Given the description of an element on the screen output the (x, y) to click on. 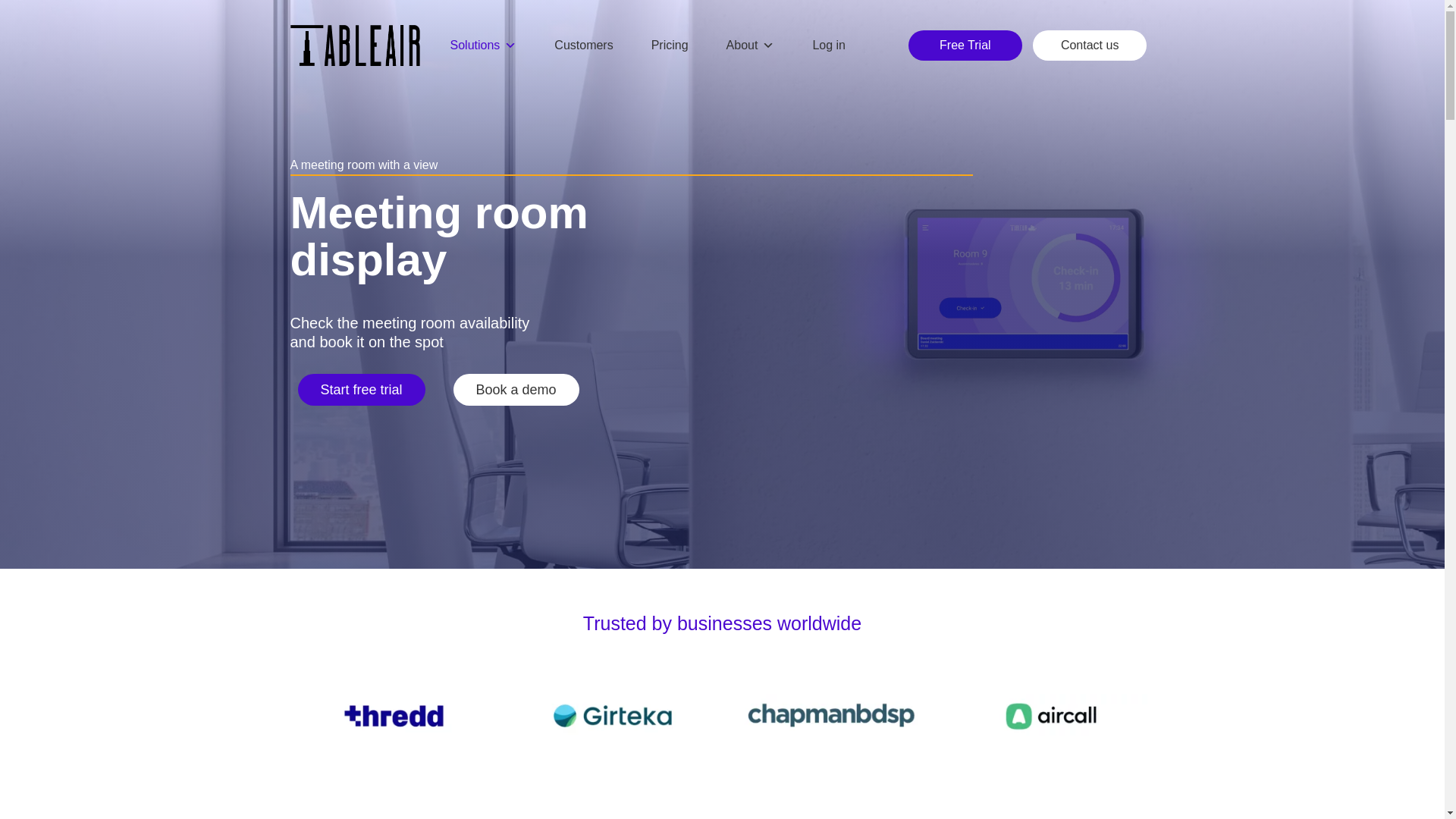
Free Trial (965, 45)
About (751, 45)
Customers (583, 45)
Solutions (483, 45)
Contact us (1089, 45)
